Given the description of an element on the screen output the (x, y) to click on. 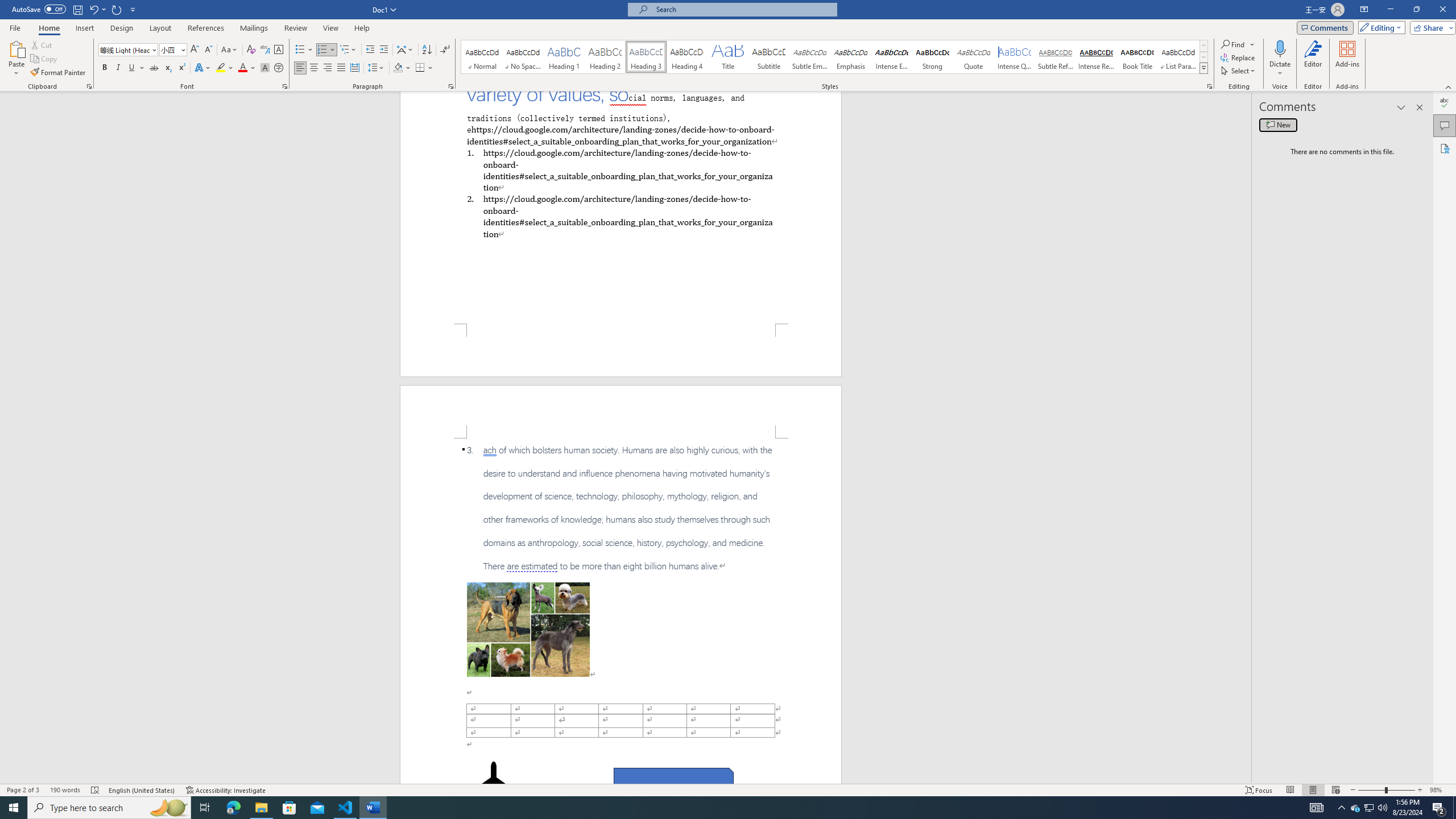
Styles... (1209, 85)
Accessibility Checker Accessibility: Investigate (226, 790)
Heading 1 (564, 56)
Open (182, 49)
Text Highlight Color Yellow (220, 67)
Shrink Font (208, 49)
Cut (42, 44)
